Given the description of an element on the screen output the (x, y) to click on. 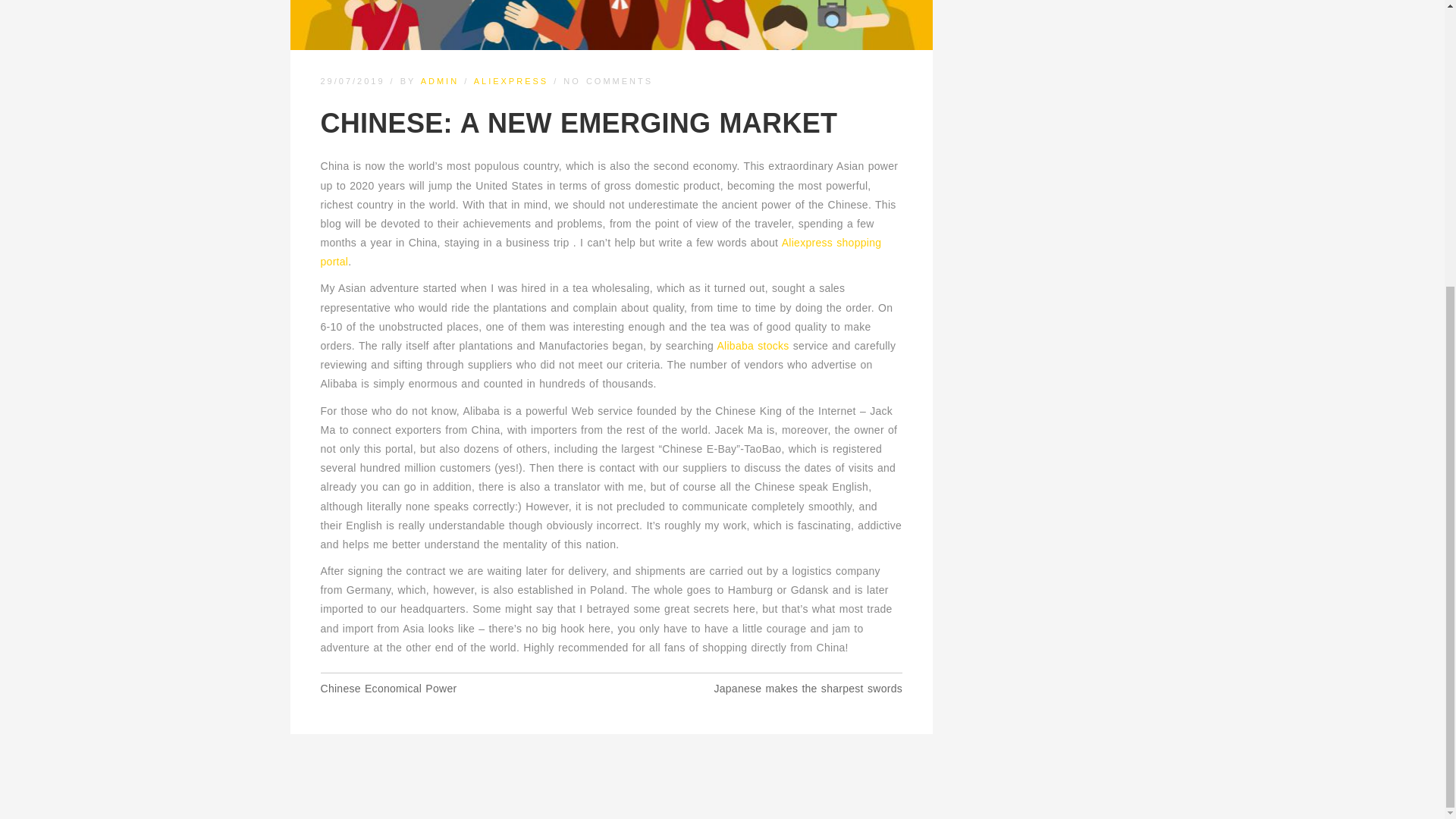
ADMIN (439, 80)
Chinese Economical Power (388, 688)
Aliexpress shopping portal (600, 251)
Alibaba stocks (752, 345)
ALIEXPRESS (511, 80)
Japanese makes the sharpest swords (807, 688)
